Given the description of an element on the screen output the (x, y) to click on. 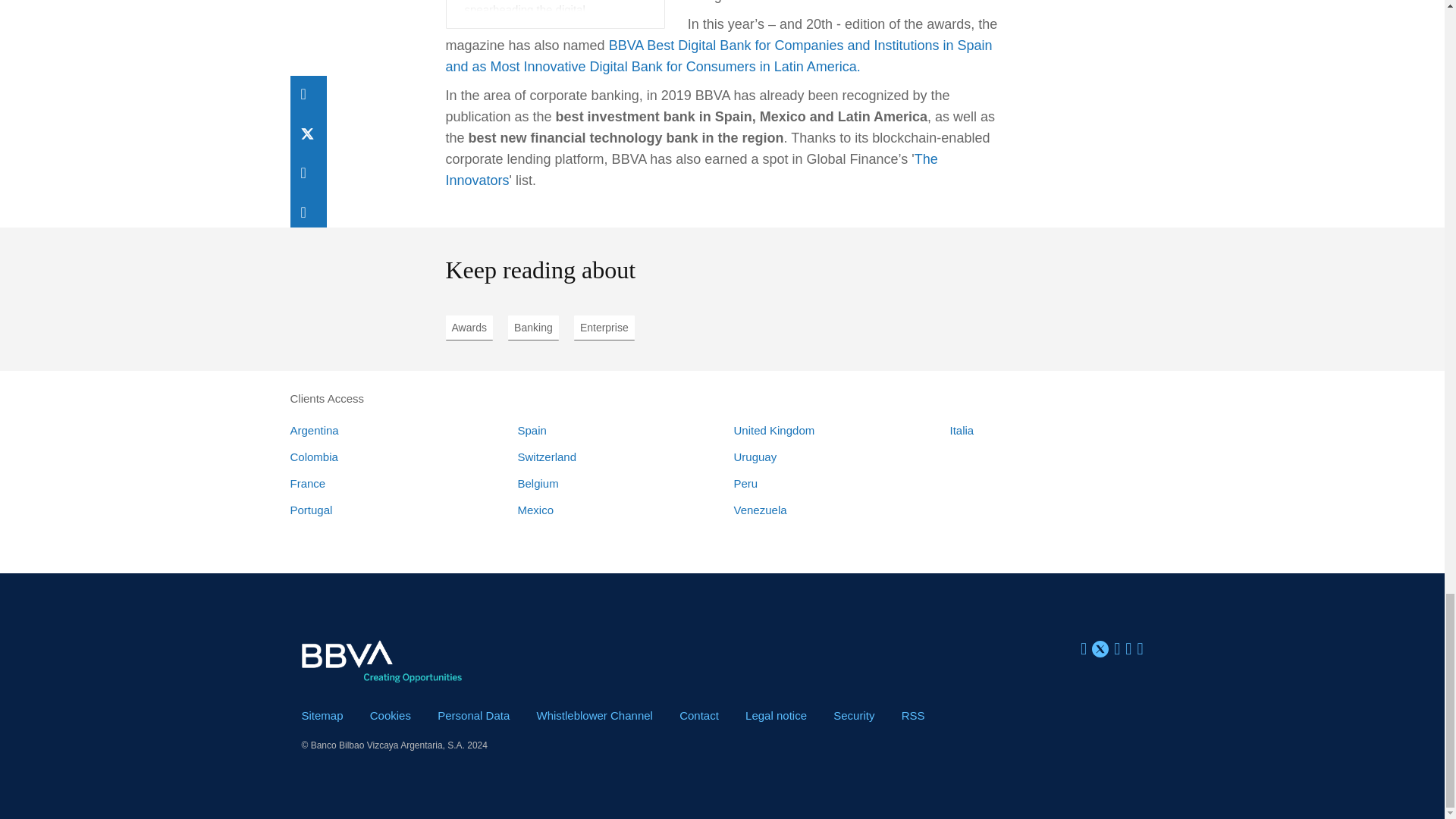
modal (775, 715)
